Given the description of an element on the screen output the (x, y) to click on. 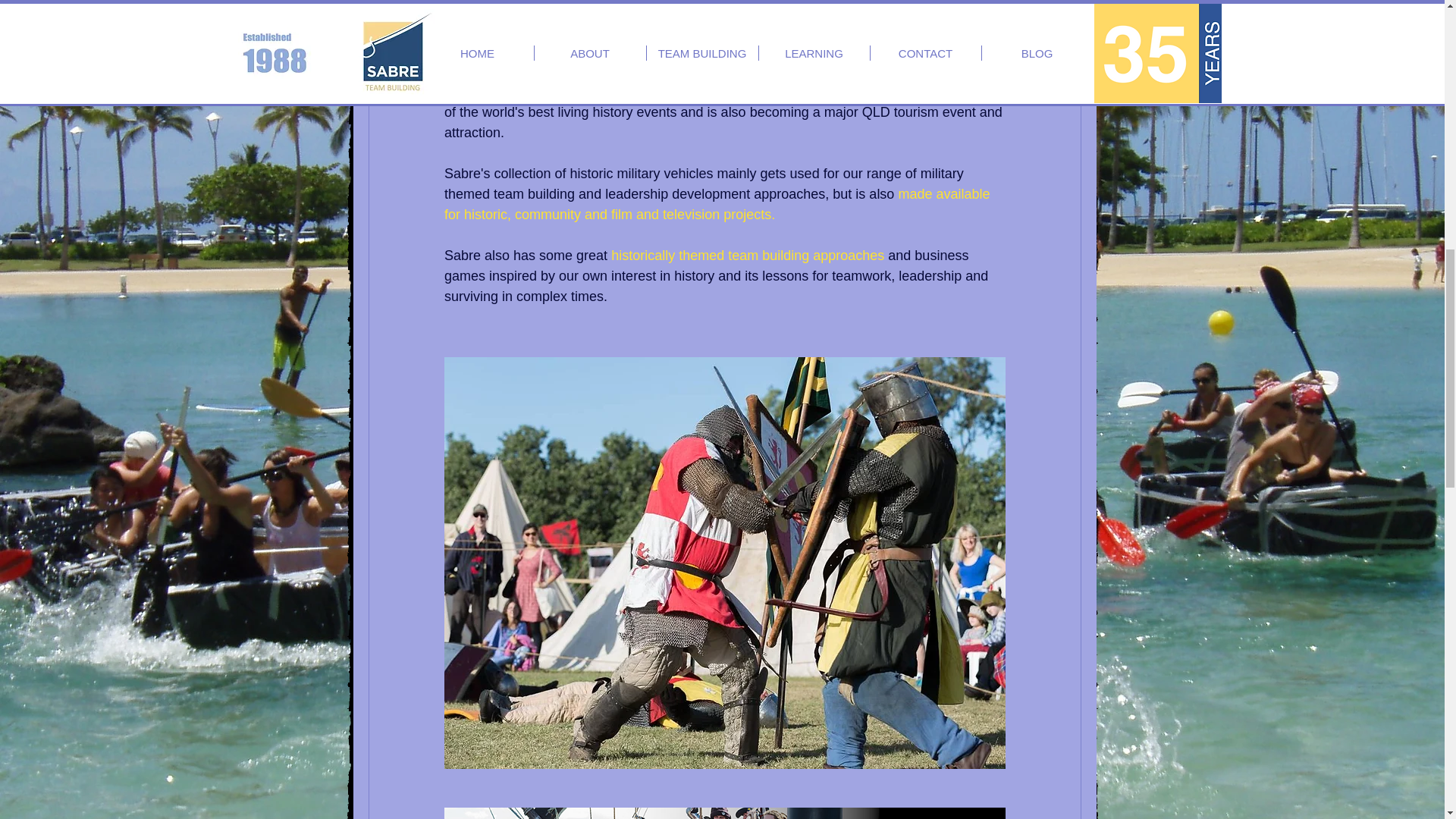
historically themed team building approaches (747, 255)
